Given the description of an element on the screen output the (x, y) to click on. 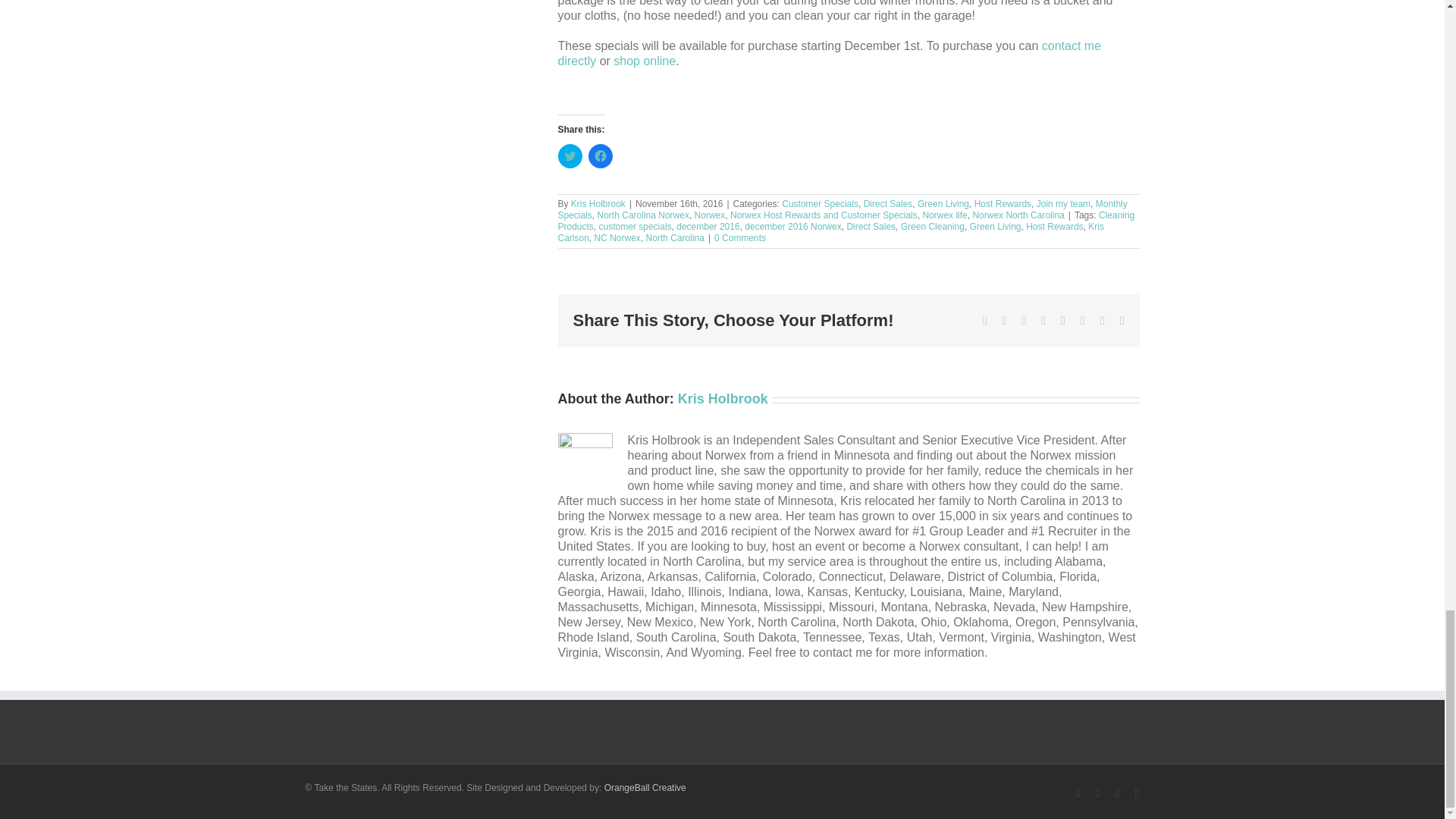
Click to share on Twitter (569, 156)
shop online (643, 60)
Posts by Kris Holbrook (598, 204)
contact me directly (829, 53)
Posts by Kris Holbrook (723, 398)
Kris Holbrook (598, 204)
Click to share on Facebook (600, 156)
